Given the description of an element on the screen output the (x, y) to click on. 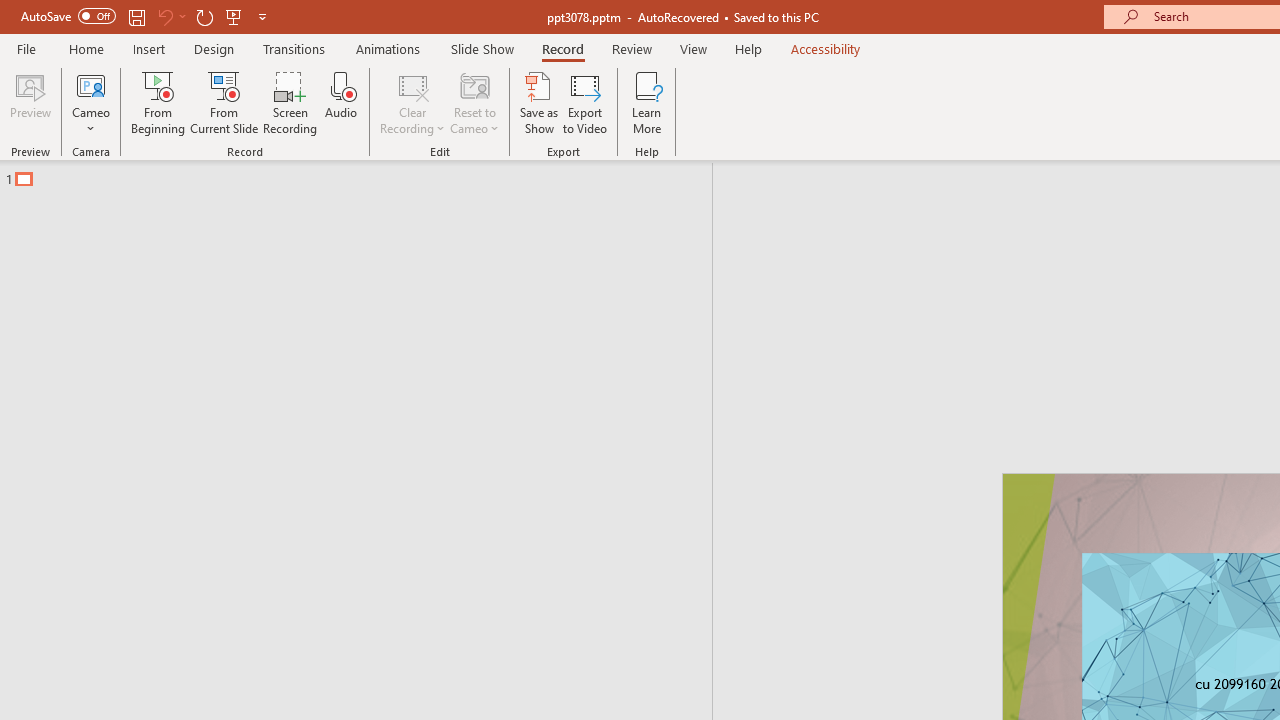
Reset to Cameo (474, 102)
